Given the description of an element on the screen output the (x, y) to click on. 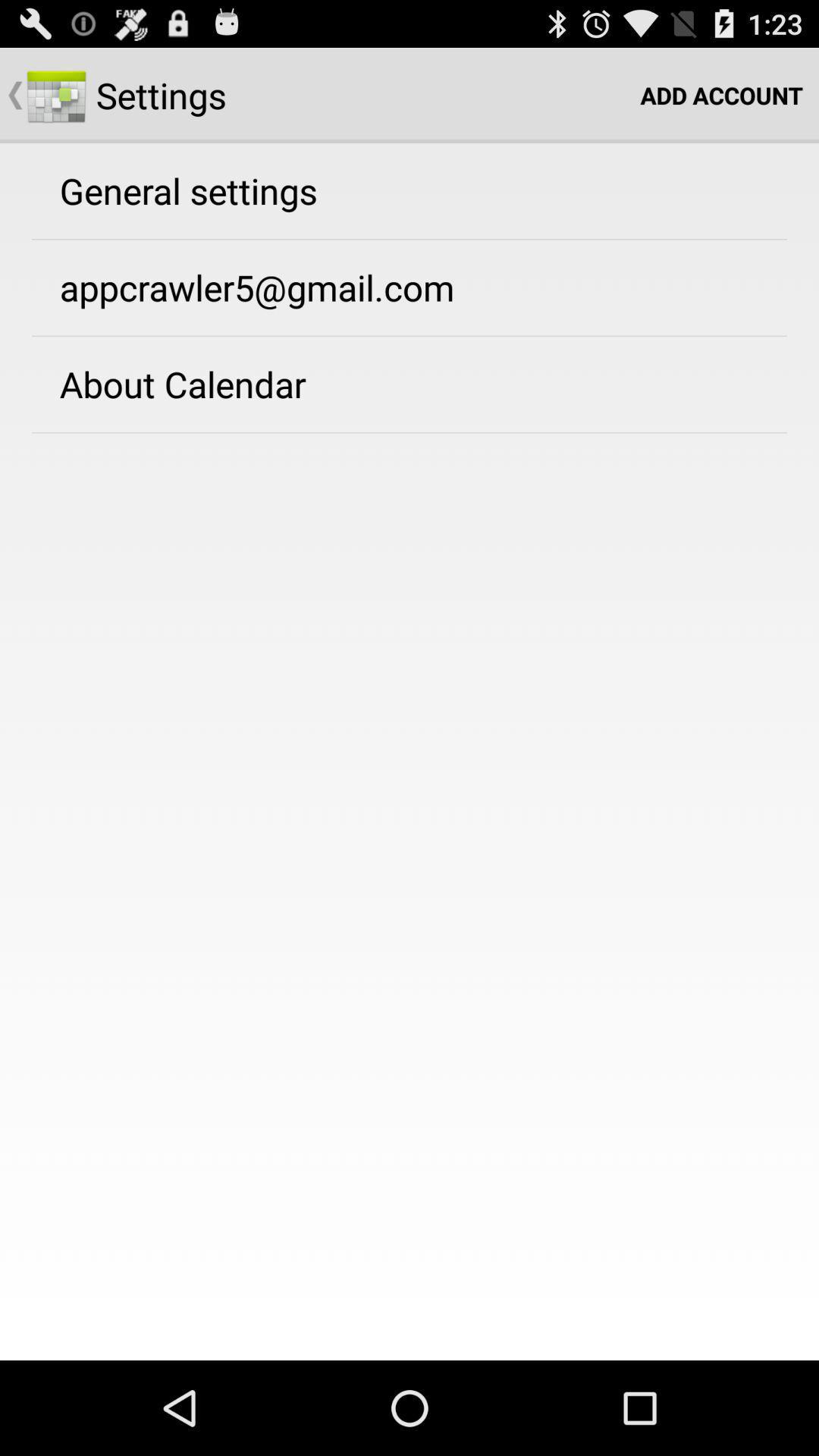
launch the app below general settings icon (256, 287)
